Given the description of an element on the screen output the (x, y) to click on. 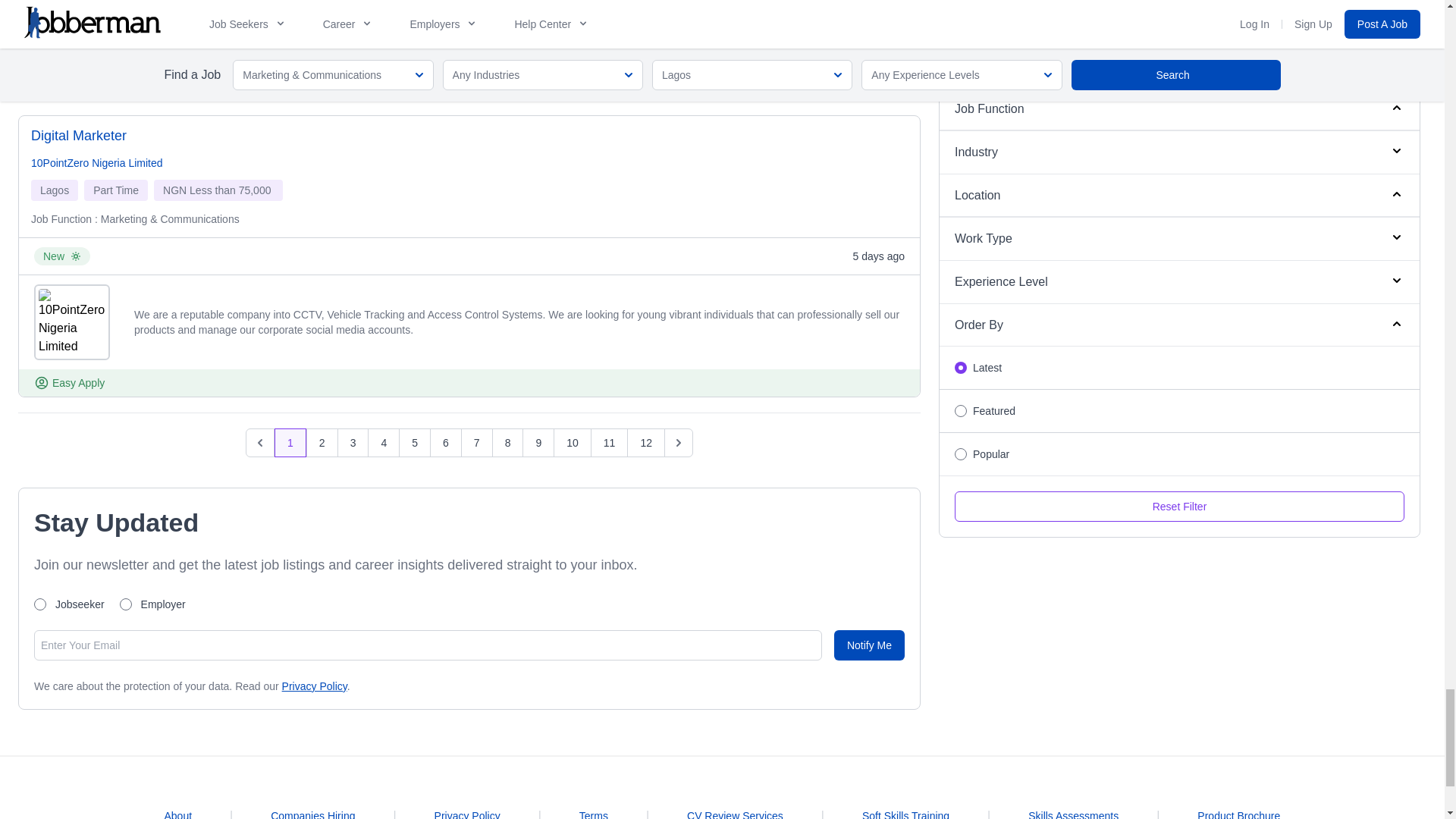
jobseeker (39, 604)
employer (125, 604)
Digital Marketer (78, 135)
